Given the description of an element on the screen output the (x, y) to click on. 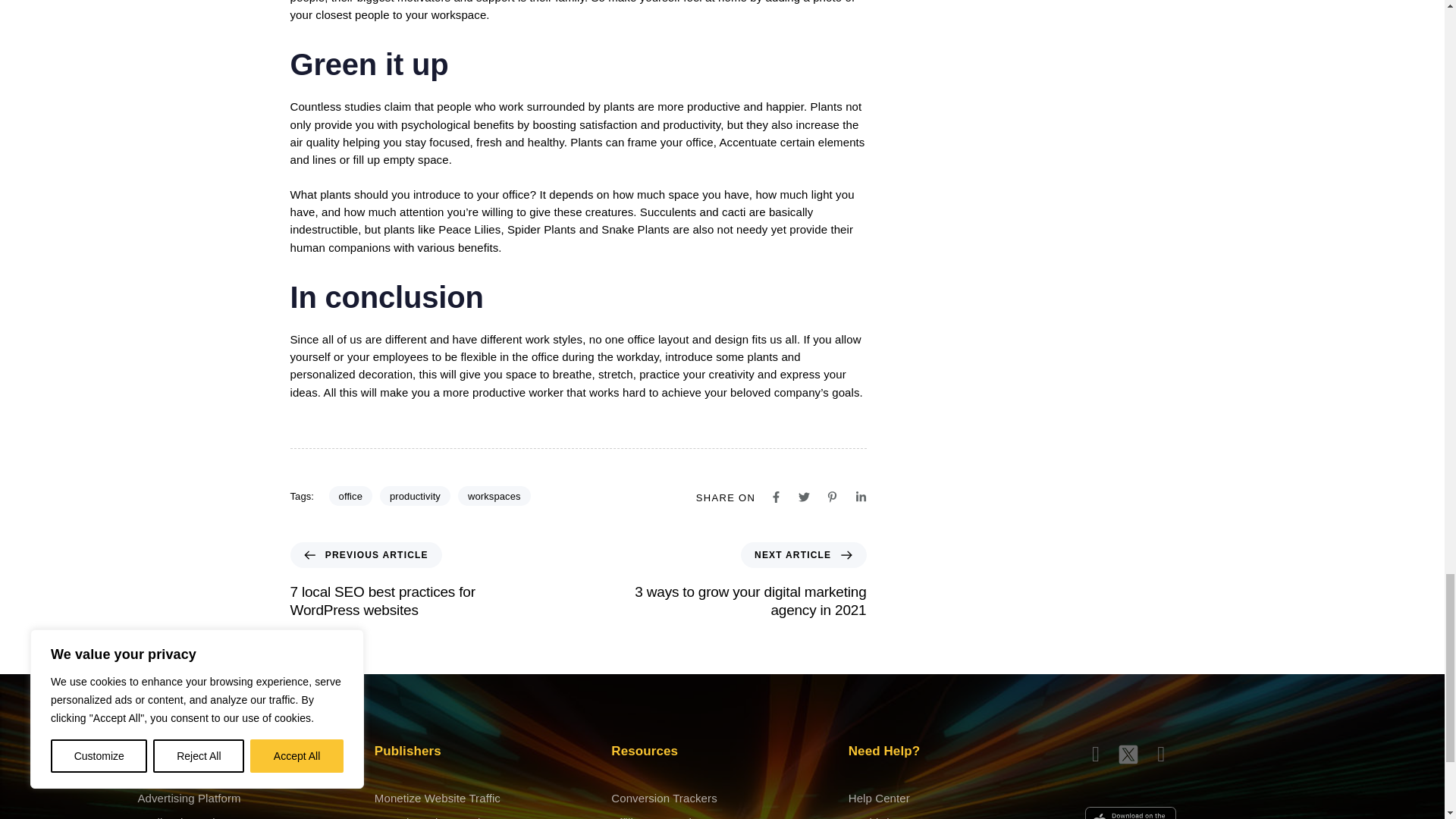
office (350, 496)
productivity (414, 496)
